Given the description of an element on the screen output the (x, y) to click on. 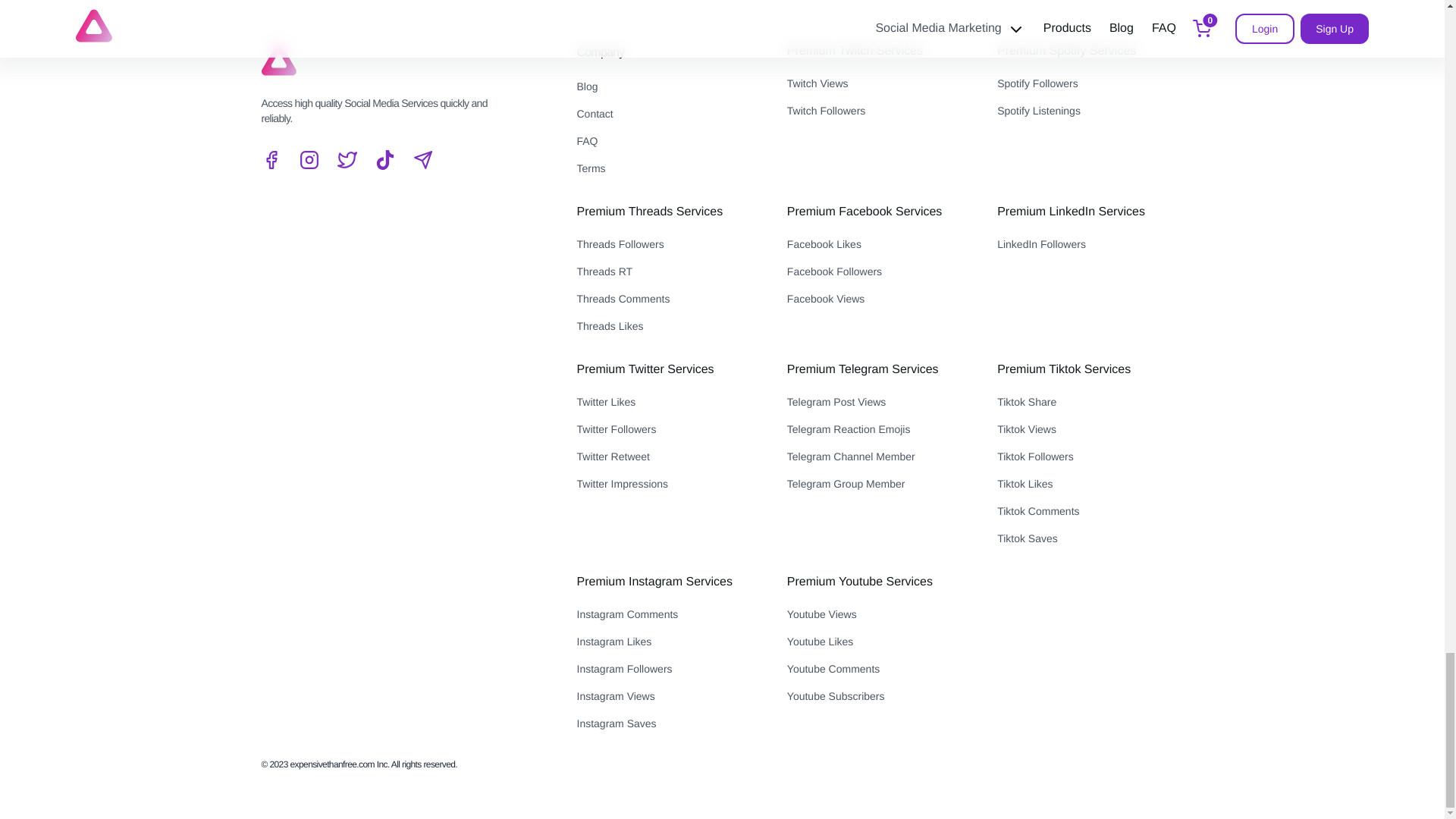
Twitter (346, 159)
Contact (668, 113)
Twitter Retweet (668, 455)
FAQ (668, 140)
Threads Followers (668, 243)
Threads Likes (668, 325)
TikTok (384, 159)
Instagram (308, 159)
Telegram (422, 159)
Twitch Views (879, 83)
